Given the description of an element on the screen output the (x, y) to click on. 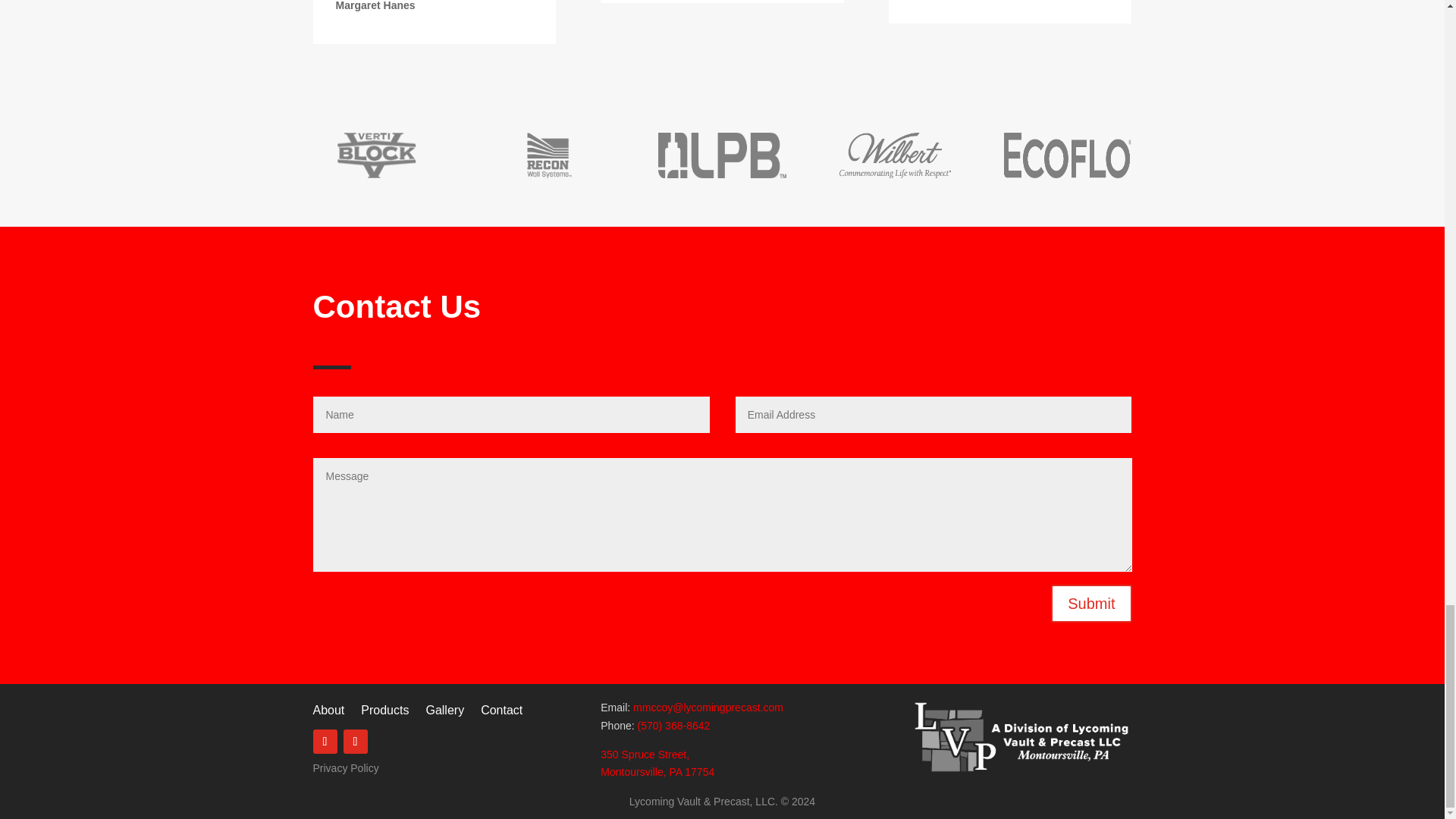
Contact (501, 713)
lycoming-vault-logo-50px-padding-transparent-whiter (1021, 736)
Submit (1091, 603)
Gallery (444, 713)
Products (385, 713)
Follow on Instagram (354, 741)
Follow on Facebook (324, 741)
About (328, 713)
LPB-Logo-FC-RGB (722, 155)
